Given the description of an element on the screen output the (x, y) to click on. 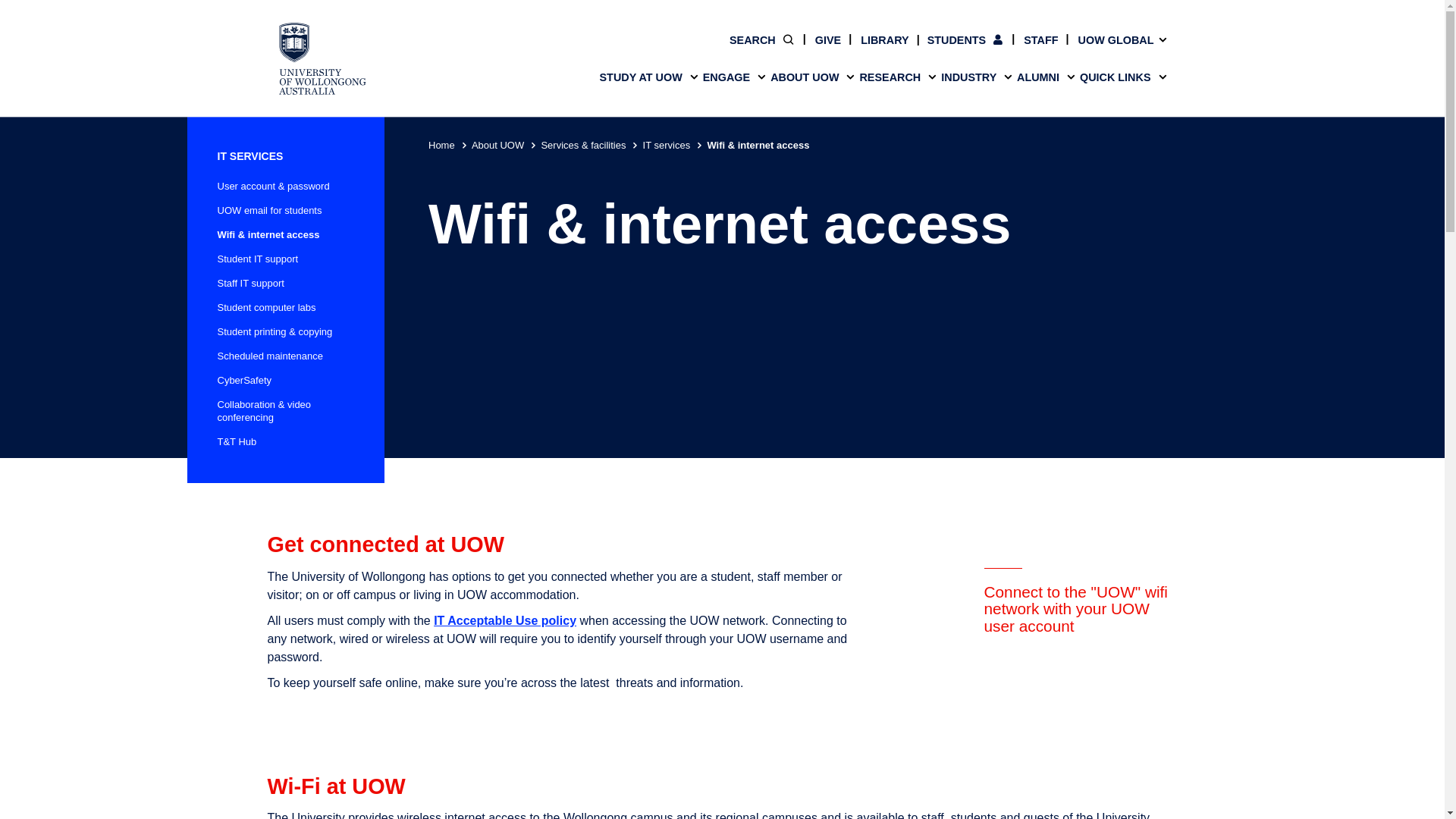
ENGAGE (734, 76)
CAMPUSES (380, 27)
LIBRARY (874, 39)
UOW GLOBAL (1112, 39)
STUDY AT UOW (647, 76)
Get connected at UOW (721, 544)
STUDY AT UOW (721, 77)
ACCOMMODATION (608, 27)
GIVE (817, 39)
NON-SCHOOL LEAVERS (608, 7)
STUDENTS (956, 39)
INTERNATIONAL STUDENTS (1062, 7)
Connect to the "UOW" wifi network with your UOW user account (1080, 634)
STAFF (1031, 39)
HIGH SCHOOL STUDENTS (380, 7)
